Given the description of an element on the screen output the (x, y) to click on. 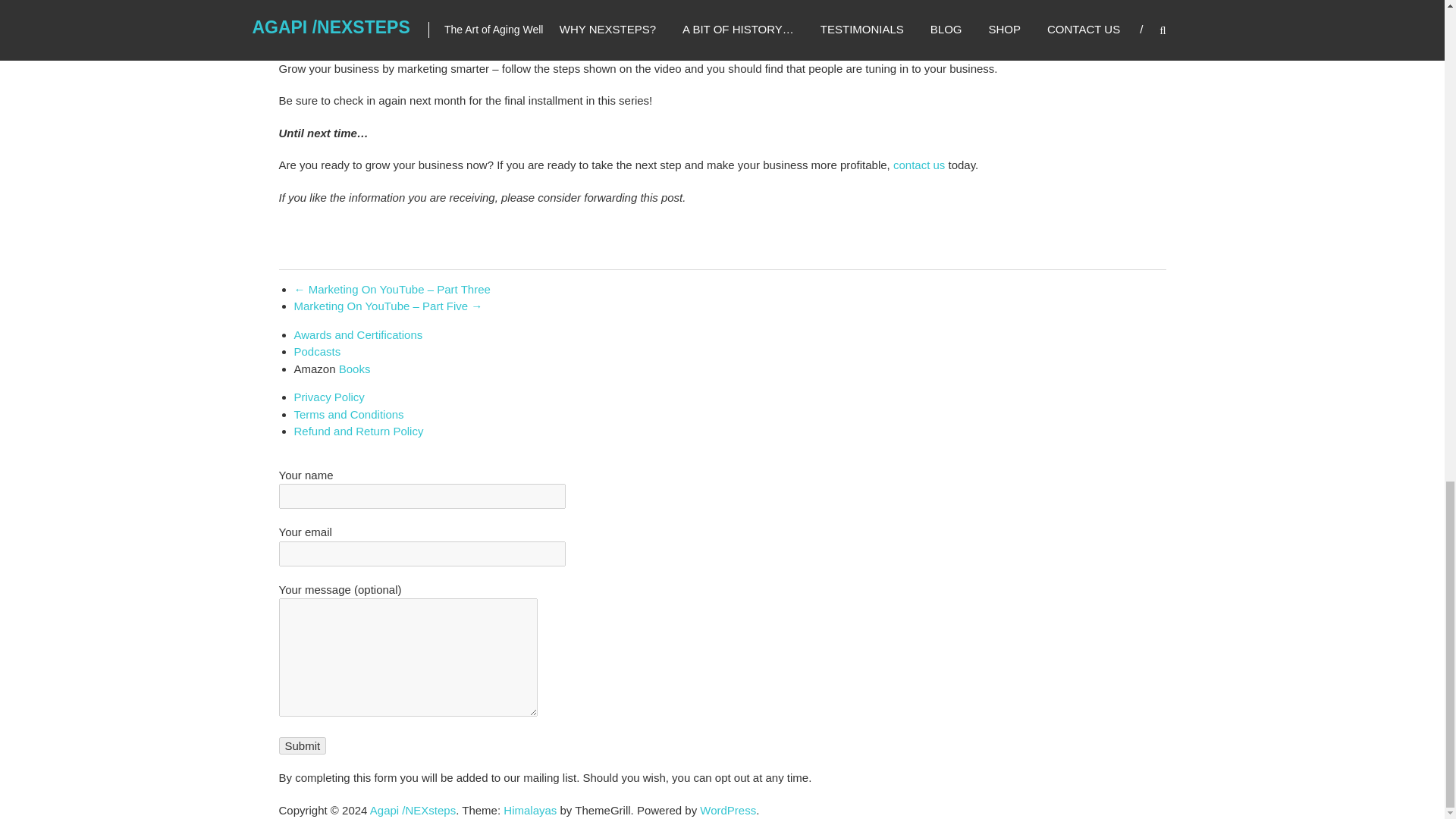
Books (355, 368)
Himalayas (529, 809)
Agapi YouTube Marketing Part 4 (575, 11)
contact us (918, 164)
Terms and Conditions (349, 413)
Refund and Return Policy (358, 431)
Awards and Certifications (358, 334)
WordPress (727, 809)
Podcasts (317, 350)
Himalayas (529, 809)
Privacy Policy (329, 396)
Submit (302, 745)
WordPress (727, 809)
Submit (302, 745)
